Given the description of an element on the screen output the (x, y) to click on. 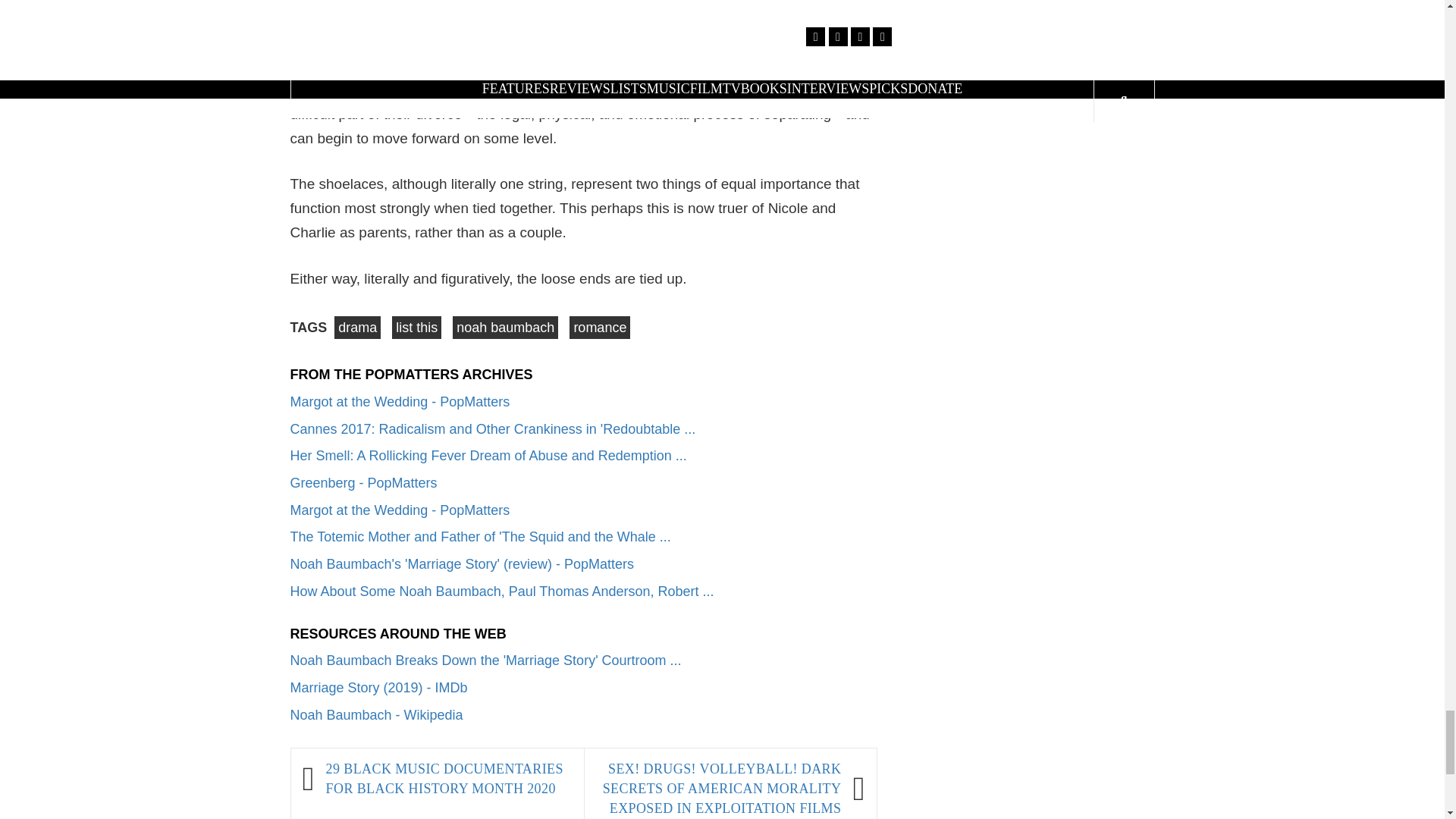
Greenberg - PopMatters (362, 482)
Margot at the Wedding - PopMatters (399, 401)
Greenberg - PopMatters (362, 482)
Margot at the Wedding - PopMatters (399, 401)
Noah Baumbach - Wikipedia (376, 714)
29 BLACK MUSIC DOCUMENTARIES FOR BLACK HISTORY MONTH 2020 (446, 779)
